Given the description of an element on the screen output the (x, y) to click on. 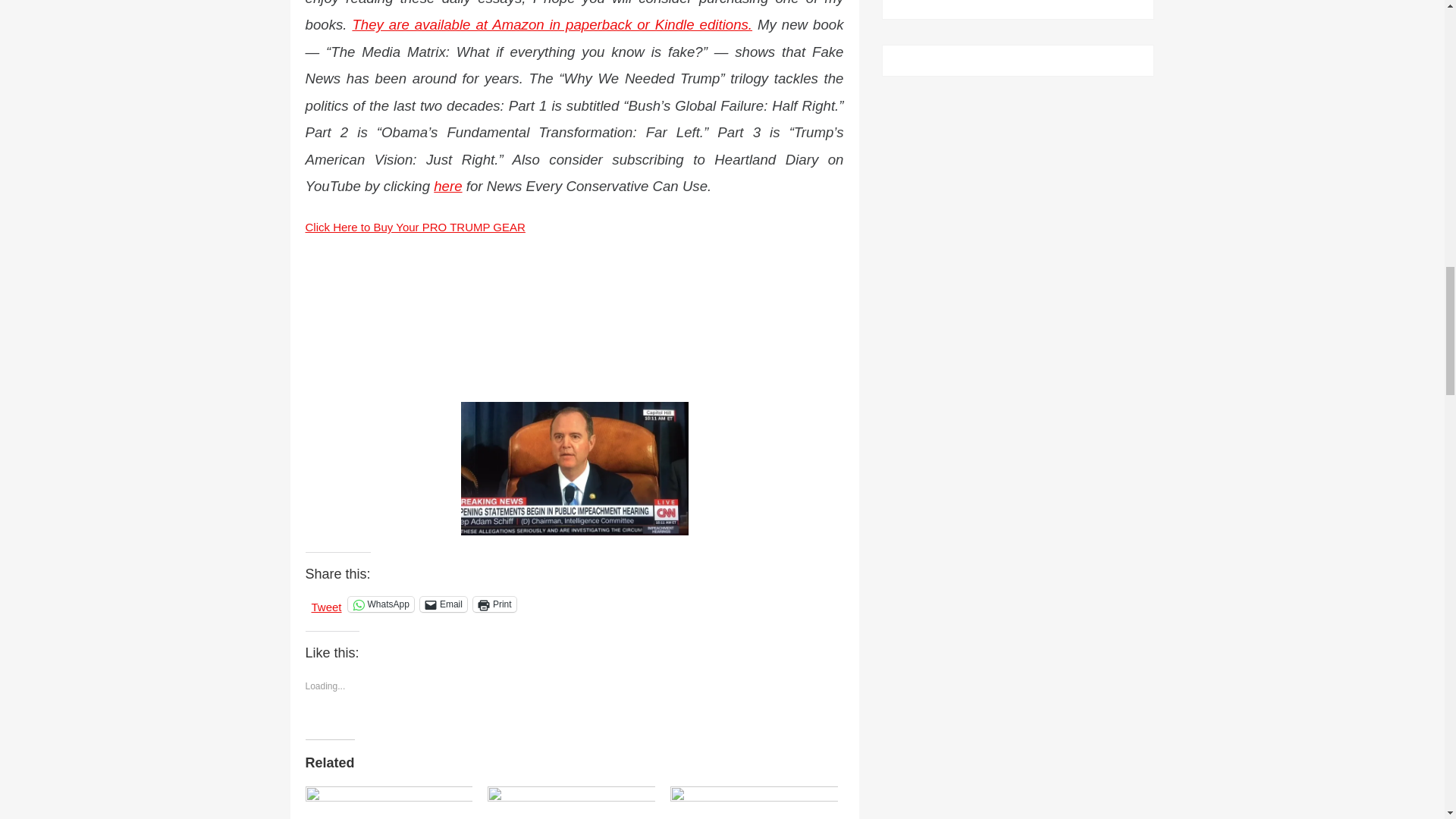
Click Here to Buy Your PRO TRUMP GEAR (414, 226)
Click to print (494, 604)
Email (443, 604)
here (447, 186)
WhatsApp (380, 604)
Click to email a link to a friend (443, 604)
Tweet (325, 603)
Print (494, 604)
Click to share on WhatsApp (380, 604)
